Given the description of an element on the screen output the (x, y) to click on. 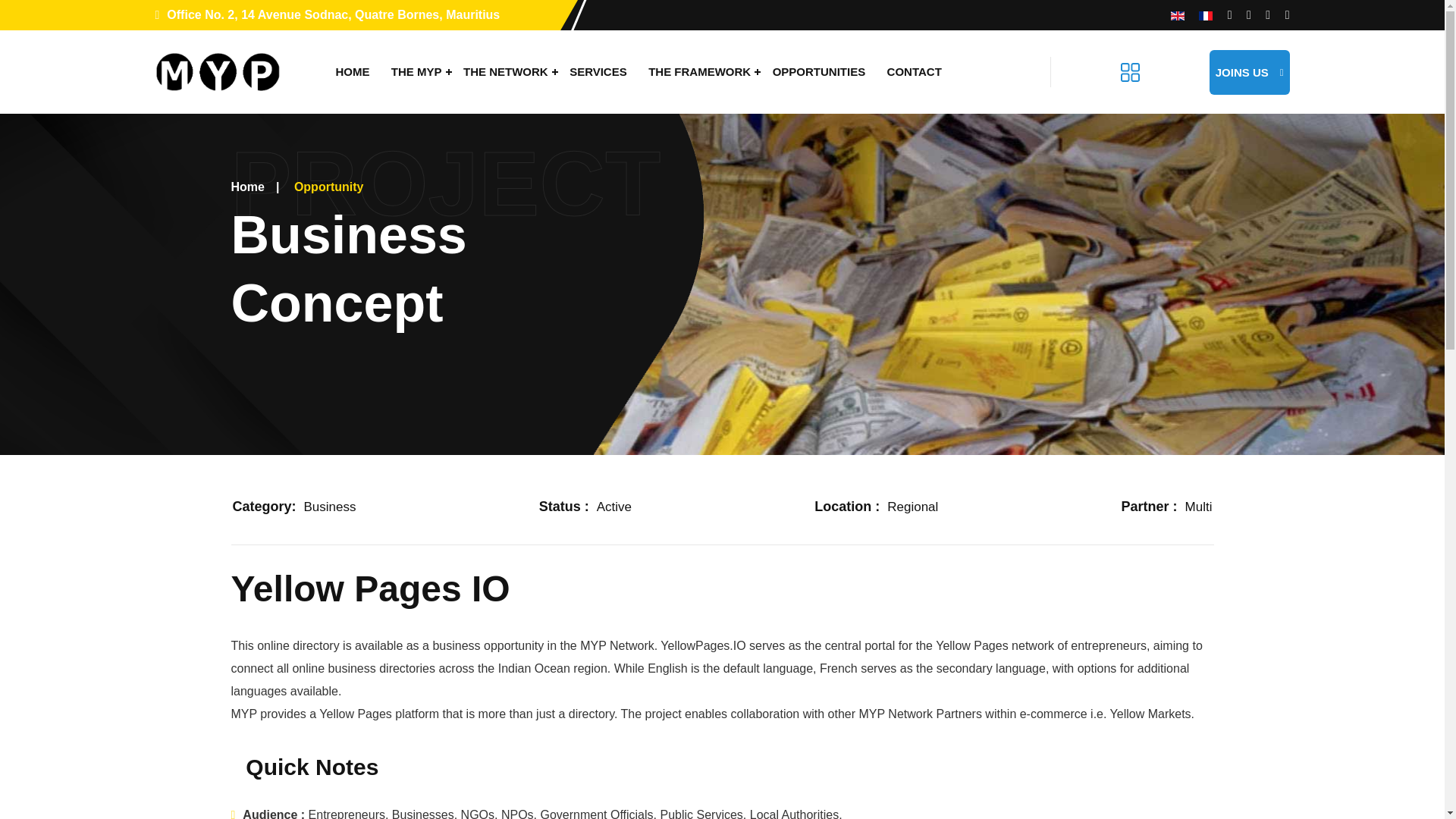
JOINS US (1249, 72)
Office No. 2, 14 Avenue Sodnac, Quatre Bornes, Mauritius (326, 14)
THE FRAMEWORK (699, 71)
Home (246, 186)
THE NETWORK (505, 71)
SERVICES (598, 71)
OPPORTUNITIES (818, 71)
